Given the description of an element on the screen output the (x, y) to click on. 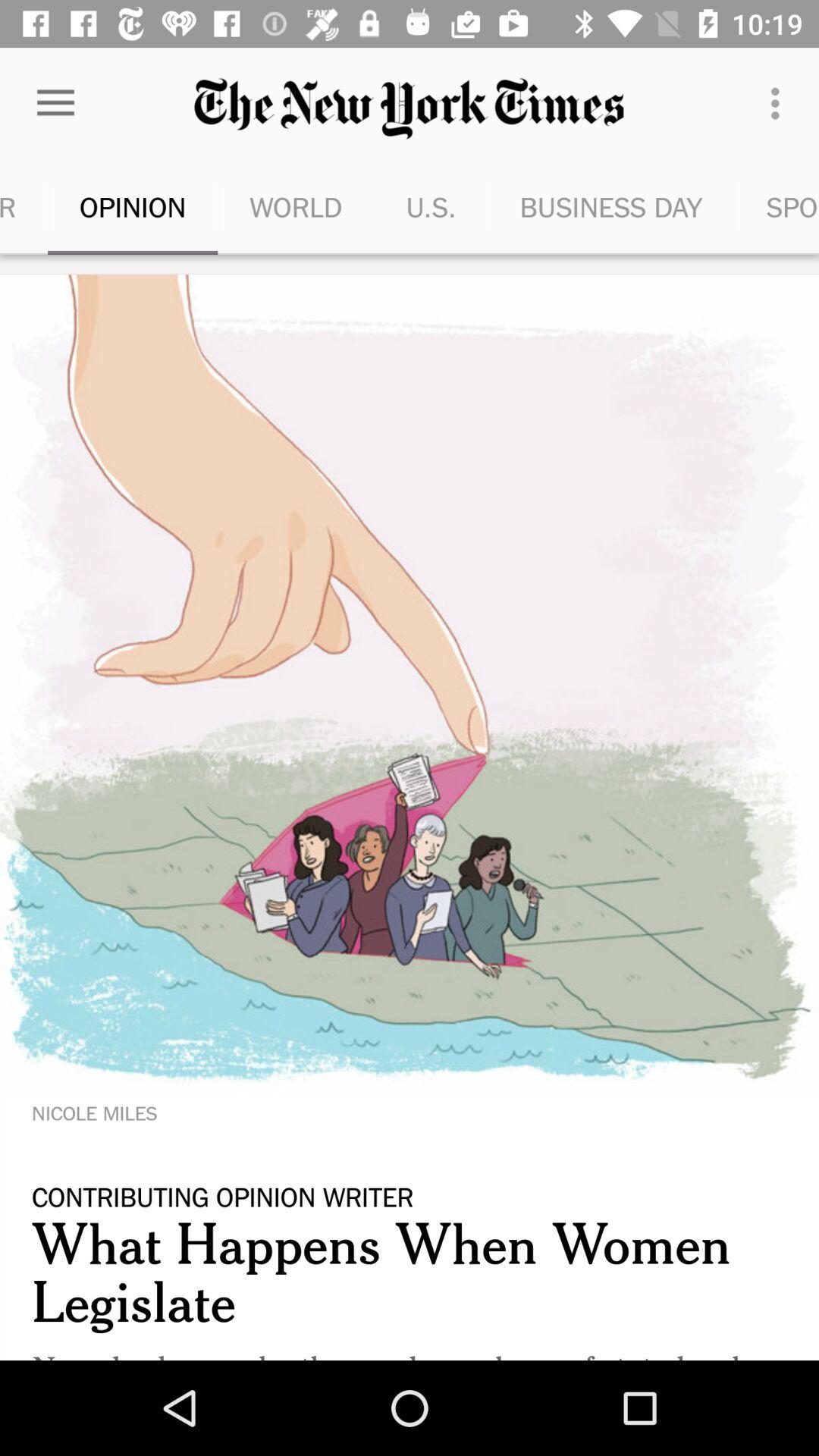
select the item next to u.s. item (295, 206)
